Given the description of an element on the screen output the (x, y) to click on. 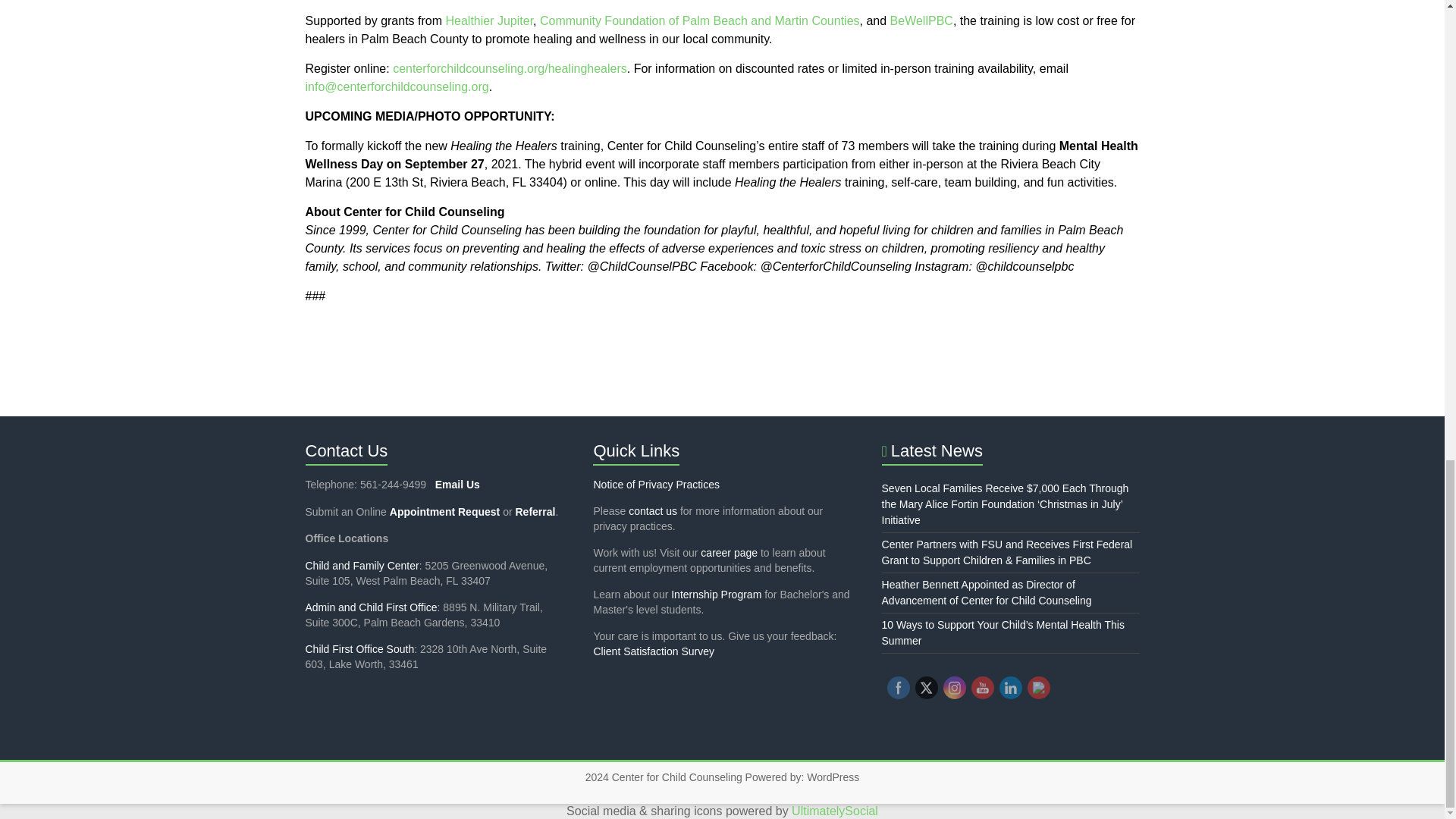
Twitter (926, 687)
Instagram (953, 687)
Center for Child Counseling (676, 776)
Facebook (897, 687)
YouTube (981, 687)
LinkedIn (1010, 687)
Pinterest (1038, 687)
